Given the description of an element on the screen output the (x, y) to click on. 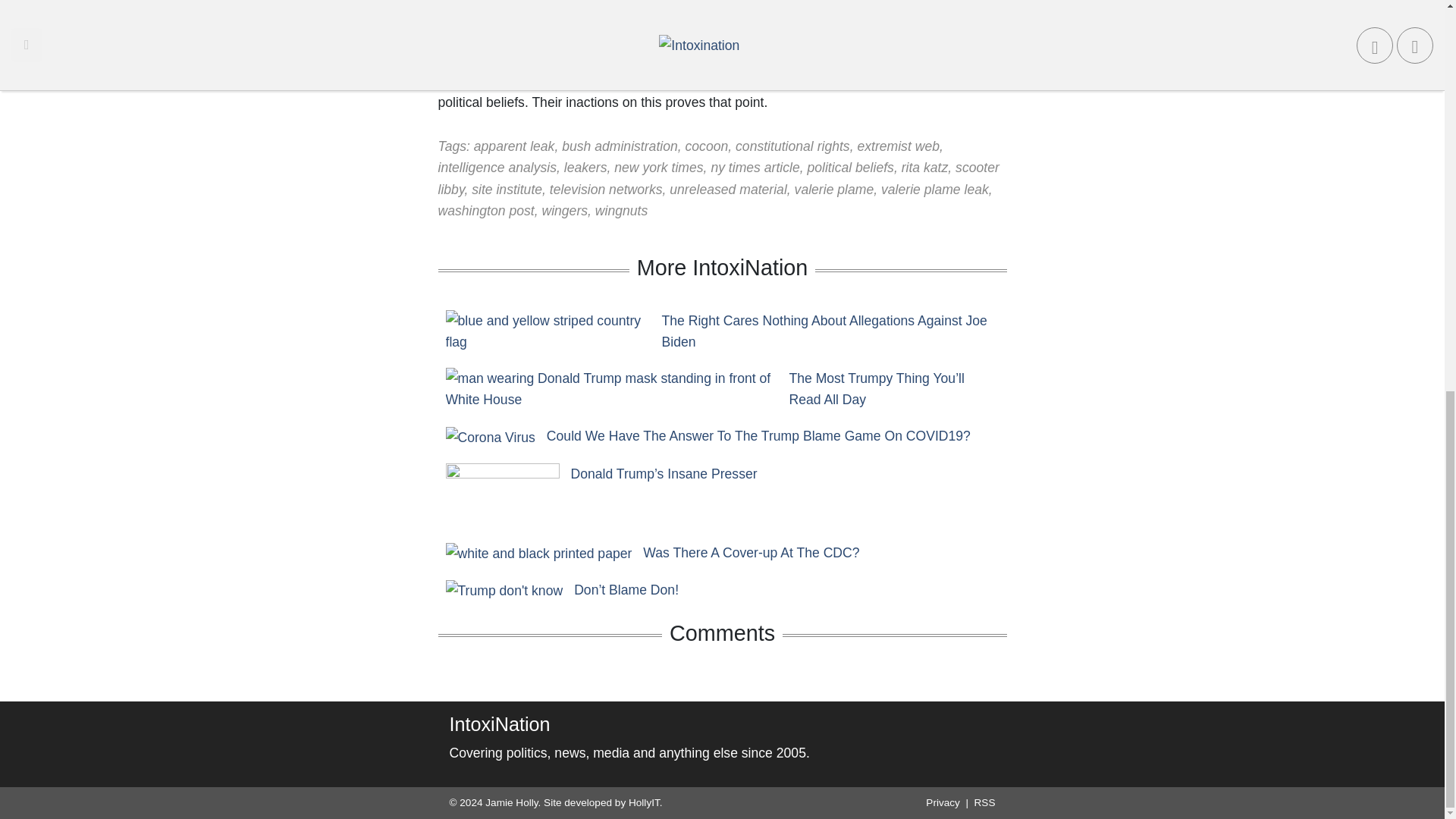
site institute (506, 189)
apparent leak (514, 145)
washington post (486, 210)
constitutional rights (792, 145)
intelligence analysis (497, 167)
valerie plame (834, 189)
rita katz (925, 167)
scooter libby (718, 177)
unreleased material (728, 189)
leakers (585, 167)
